Given the description of an element on the screen output the (x, y) to click on. 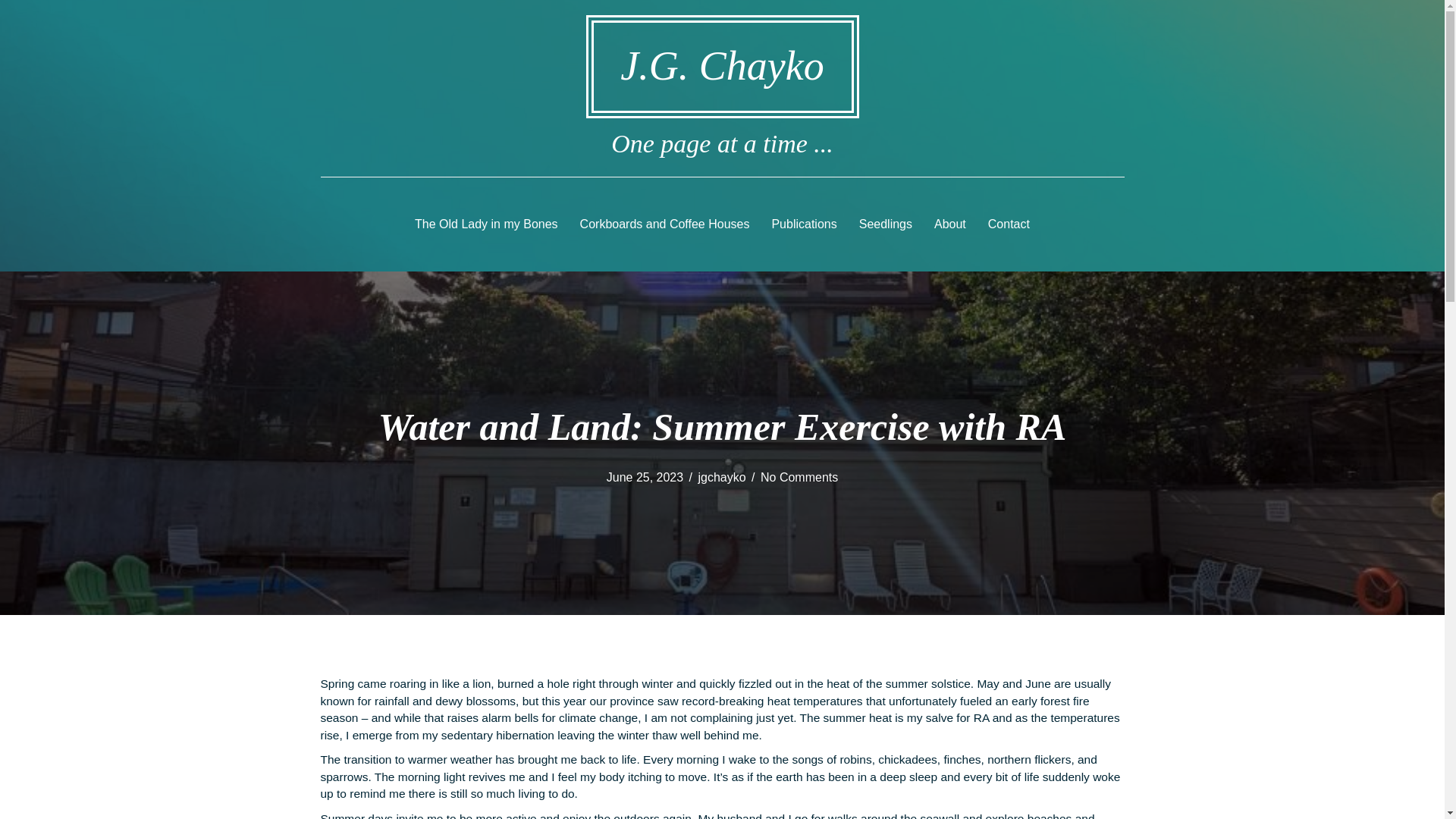
About (949, 224)
Seedlings (885, 224)
The Old Lady in my Bones (486, 224)
J.G. Chayko (722, 65)
Corkboards and Coffee Houses (664, 224)
No Comments (799, 477)
jgchayko (721, 477)
Publications (803, 224)
Contact (1008, 224)
J.G. Chayko (722, 65)
